Given the description of an element on the screen output the (x, y) to click on. 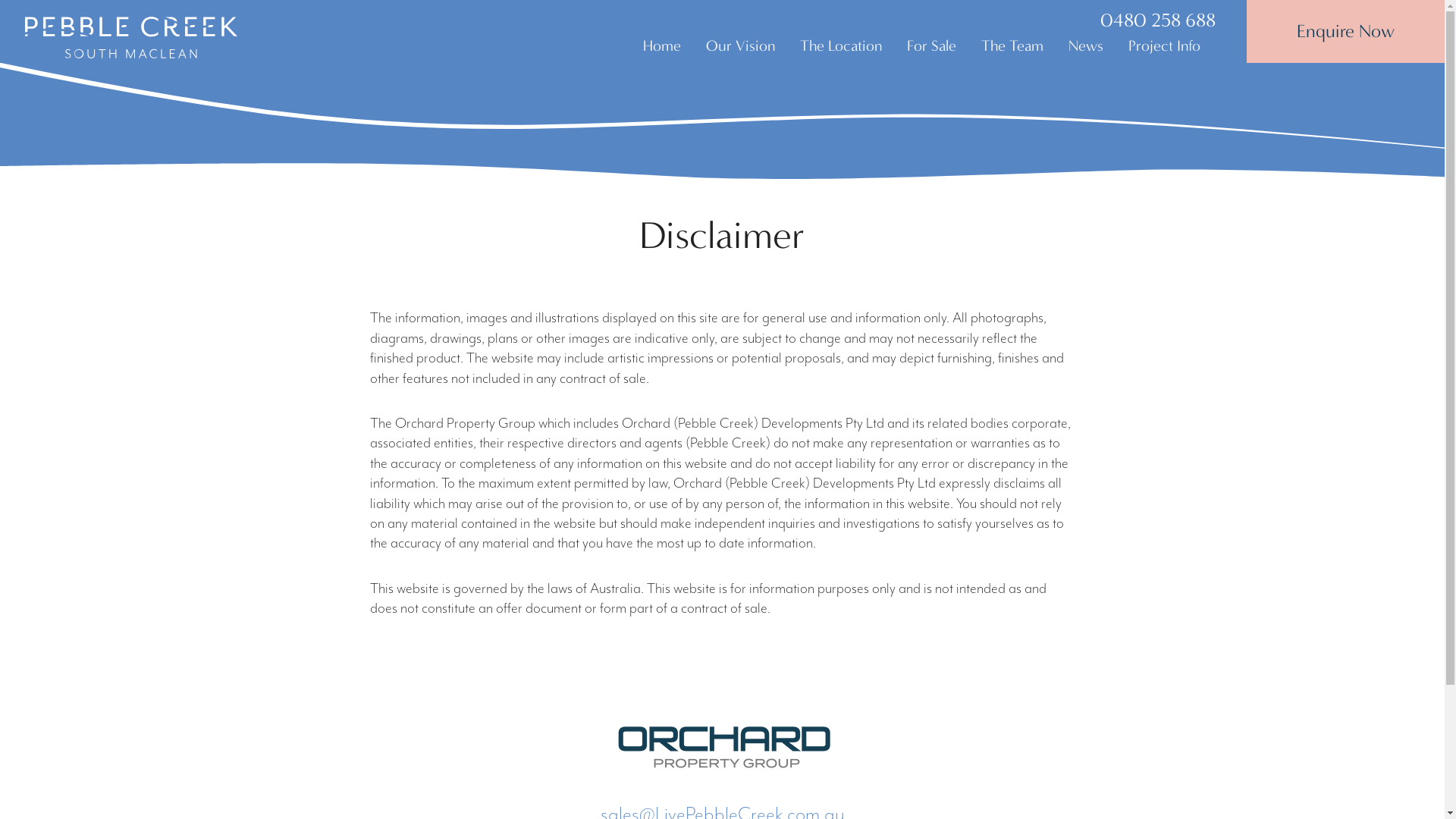
0480 258 688 Element type: text (1157, 20)
Pebble Creek Element type: hover (131, 37)
Our Vision Element type: text (740, 45)
For Sale Element type: text (931, 45)
Skip to primary navigation Element type: text (0, 0)
News Element type: text (1085, 45)
The Location Element type: text (840, 45)
Project Info Element type: text (1164, 45)
The Team Element type: text (1012, 45)
Enquire Now Element type: text (1345, 31)
Home Element type: text (661, 45)
